Given the description of an element on the screen output the (x, y) to click on. 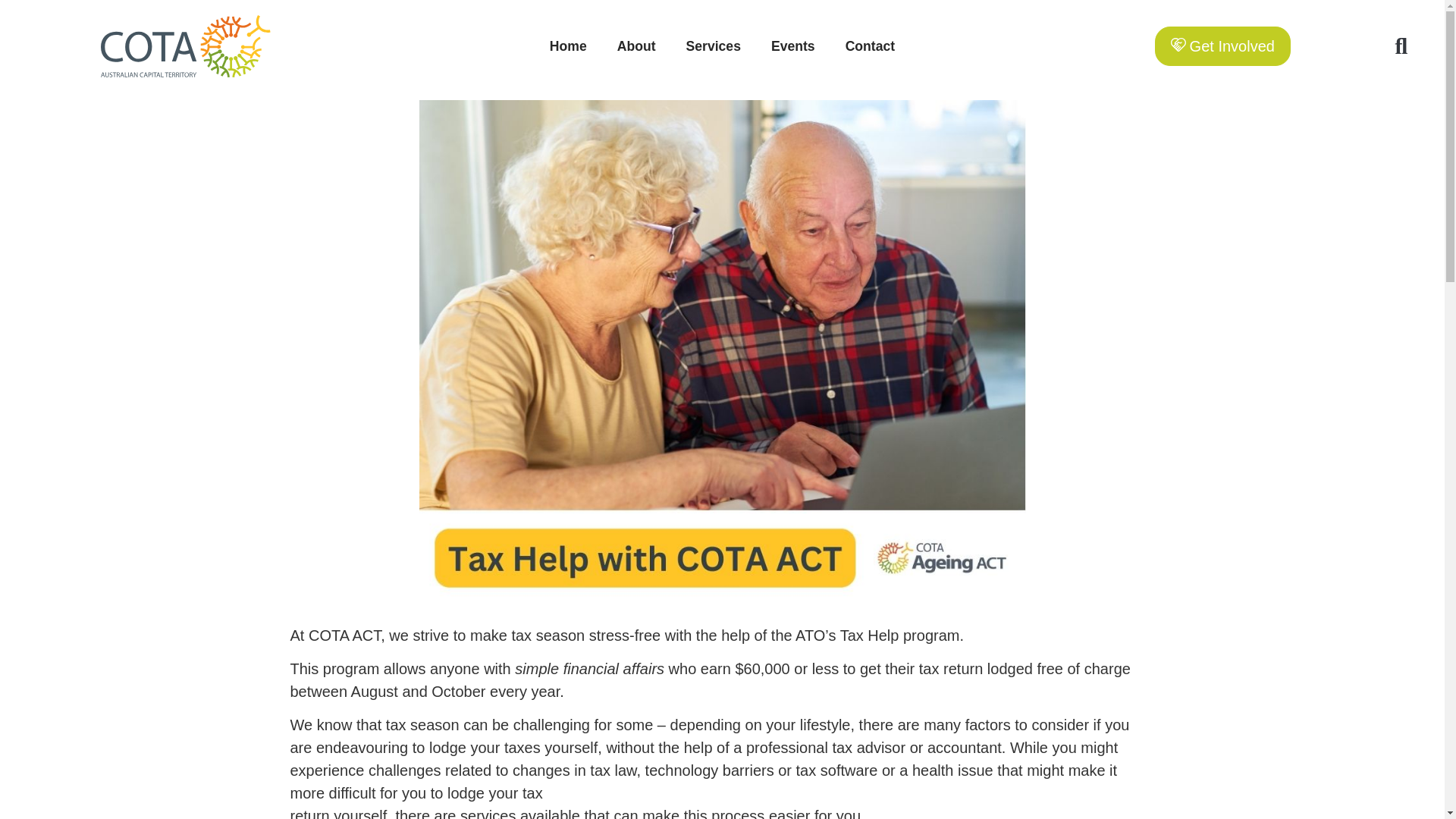
About (636, 45)
Home (568, 45)
Services (713, 45)
Contact (870, 45)
Events (792, 45)
